Given the description of an element on the screen output the (x, y) to click on. 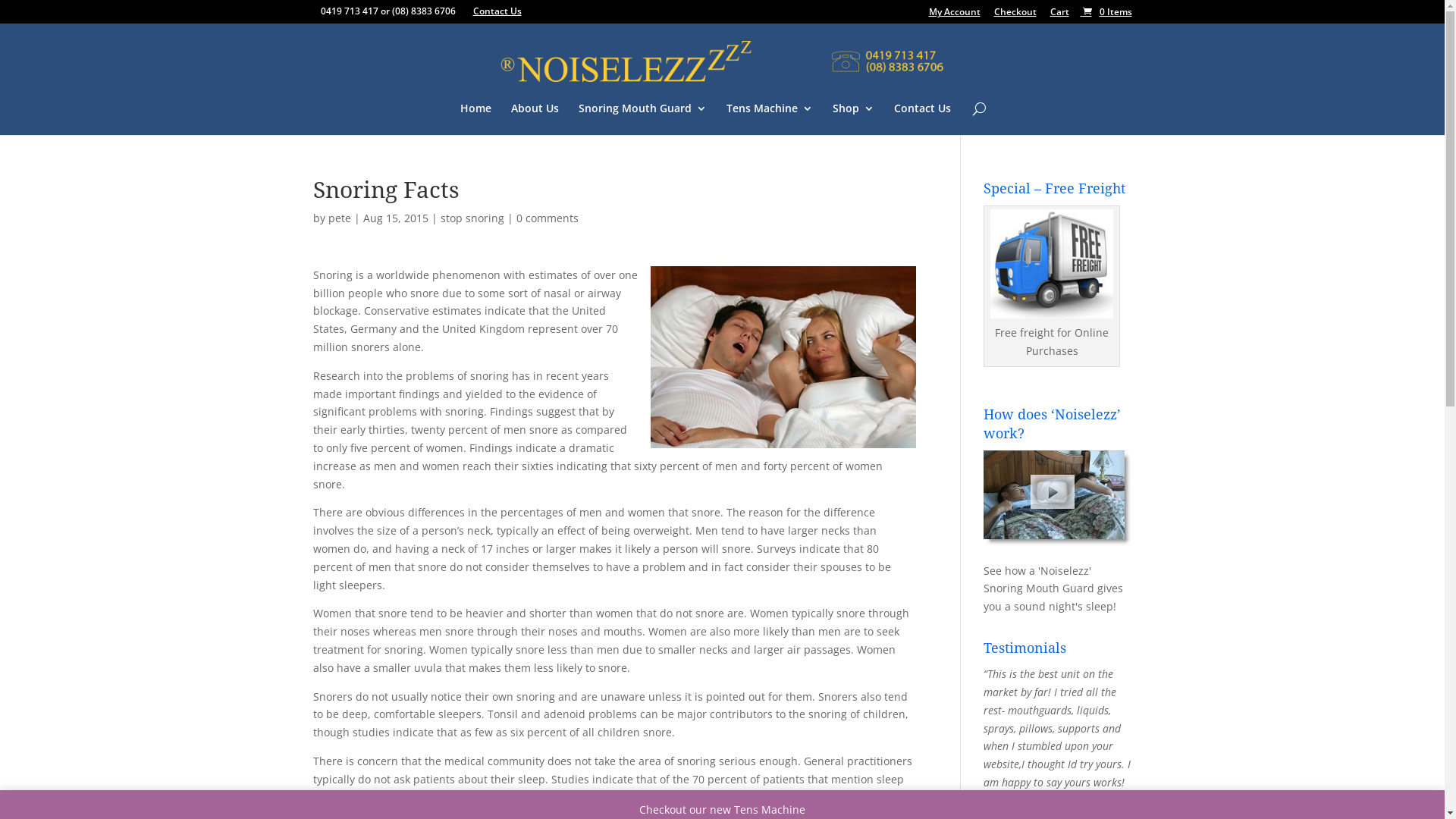
stop snoring Element type: text (471, 217)
0 Items Element type: text (1105, 11)
Snoring Mouth Guard Element type: text (642, 118)
Tens Machine Element type: text (769, 118)
pete Element type: text (338, 217)
My Account Element type: text (953, 15)
Contact Us Element type: text (922, 118)
0 comments Element type: text (546, 217)
Shop Element type: text (853, 118)
Cart Element type: text (1058, 15)
Contact Us Element type: text (497, 10)
Checkout Element type: text (1014, 15)
About Us Element type: text (534, 118)
Home Element type: text (475, 118)
